Given the description of an element on the screen output the (x, y) to click on. 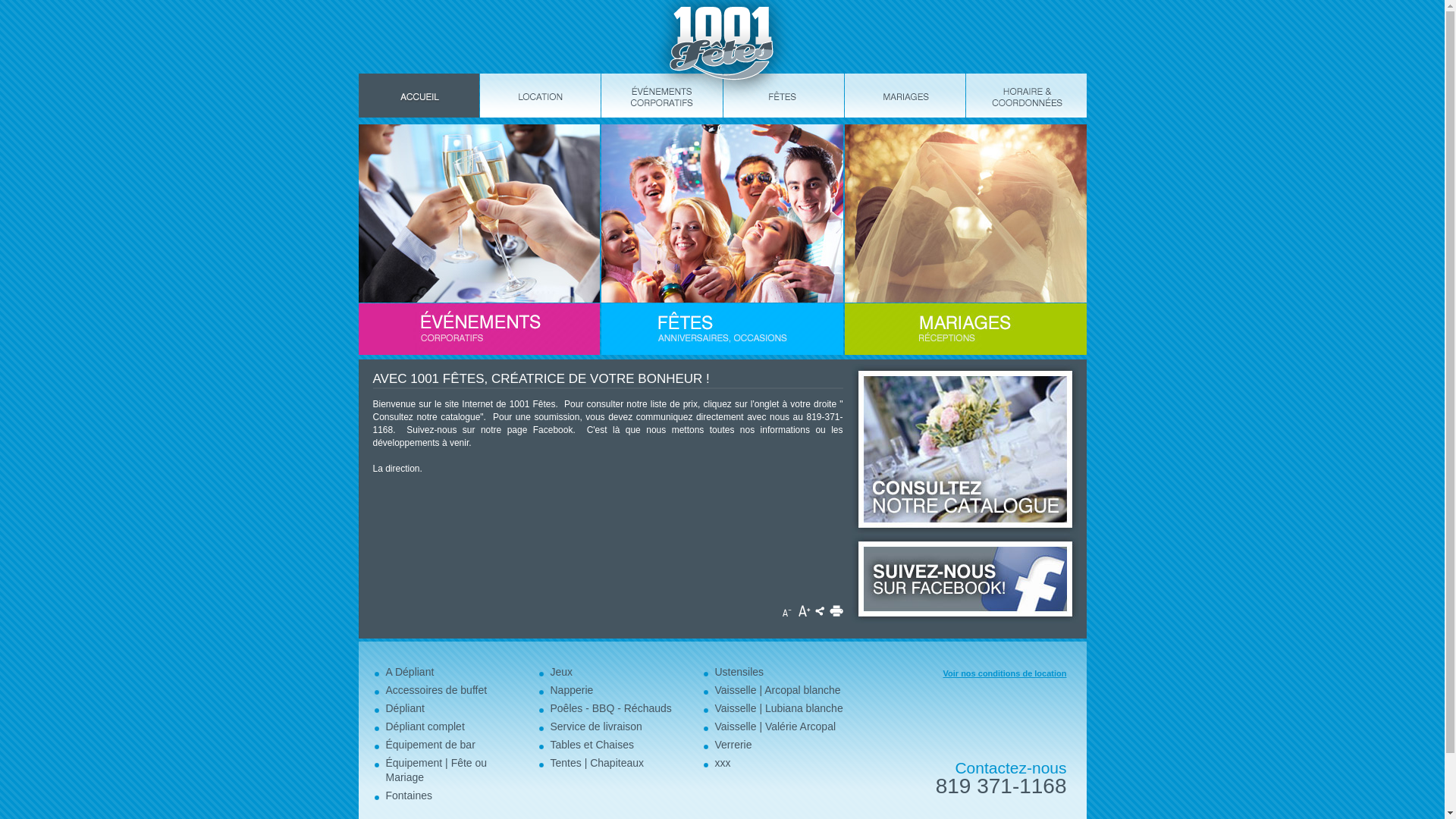
Verrerie Element type: text (732, 744)
Vaisselle | Arcopal blanche Element type: text (777, 690)
Consultez notre catalogue Element type: hover (964, 449)
Augmenter la taille du texte Element type: hover (803, 610)
Service de livraison Element type: text (596, 726)
Accueil Element type: hover (417, 95)
Locations Element type: hover (539, 95)
Fontaines Element type: text (408, 795)
Ustensiles Element type: text (738, 671)
Napperie Element type: text (571, 690)
Mariages Element type: hover (965, 239)
Vaisselle | Lubiana blanche Element type: text (778, 708)
Jeux Element type: text (561, 671)
Partager cette page Element type: hover (818, 610)
xxx Element type: text (722, 762)
Mariages Element type: hover (904, 95)
Imprimer cette page Element type: hover (836, 610)
Tentes | Chapiteaux Element type: text (597, 762)
Tables et Chaises Element type: text (592, 744)
Suivez-nous sur Facebook! Element type: hover (964, 578)
Voir nos conditions de location Element type: text (1004, 673)
Accessoires de buffet Element type: text (435, 690)
